Given the description of an element on the screen output the (x, y) to click on. 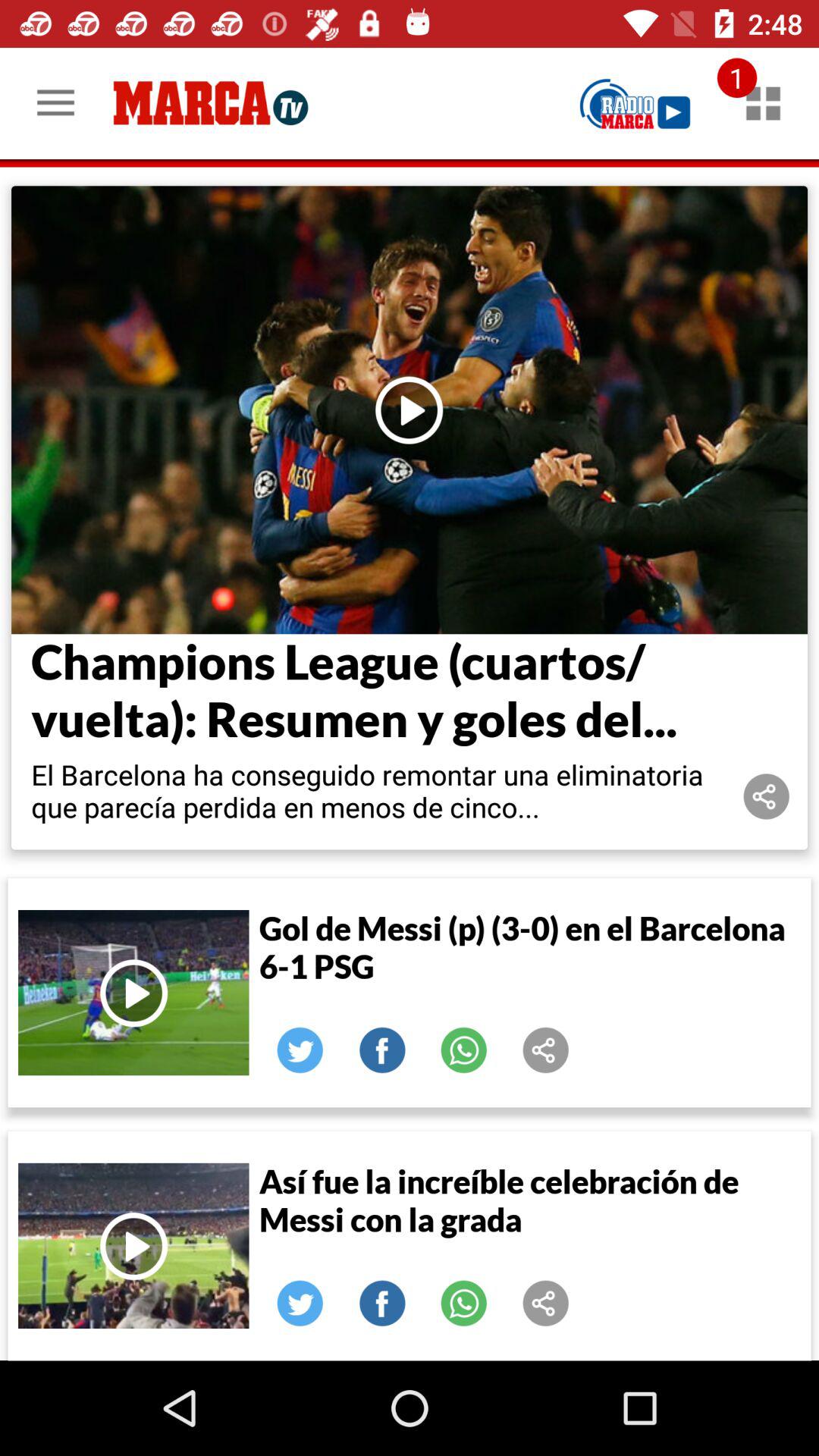
share via watts app (464, 1303)
